Given the description of an element on the screen output the (x, y) to click on. 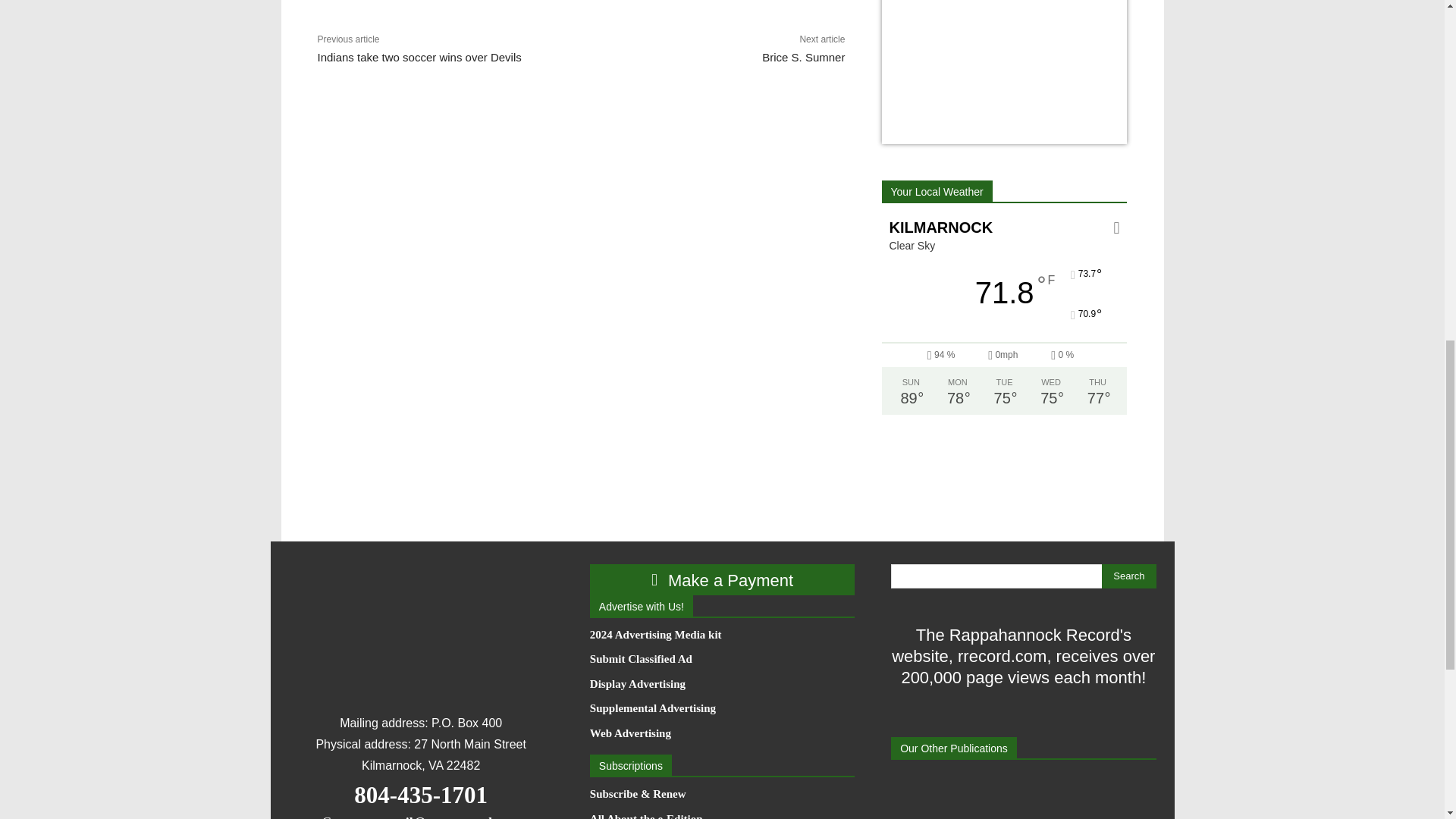
2024 Advertising Media kit (721, 635)
Make a Payment (721, 579)
Indians take two soccer wins over Devils (419, 56)
Brice S. Sumner (802, 56)
Make a Payment (721, 579)
